Given the description of an element on the screen output the (x, y) to click on. 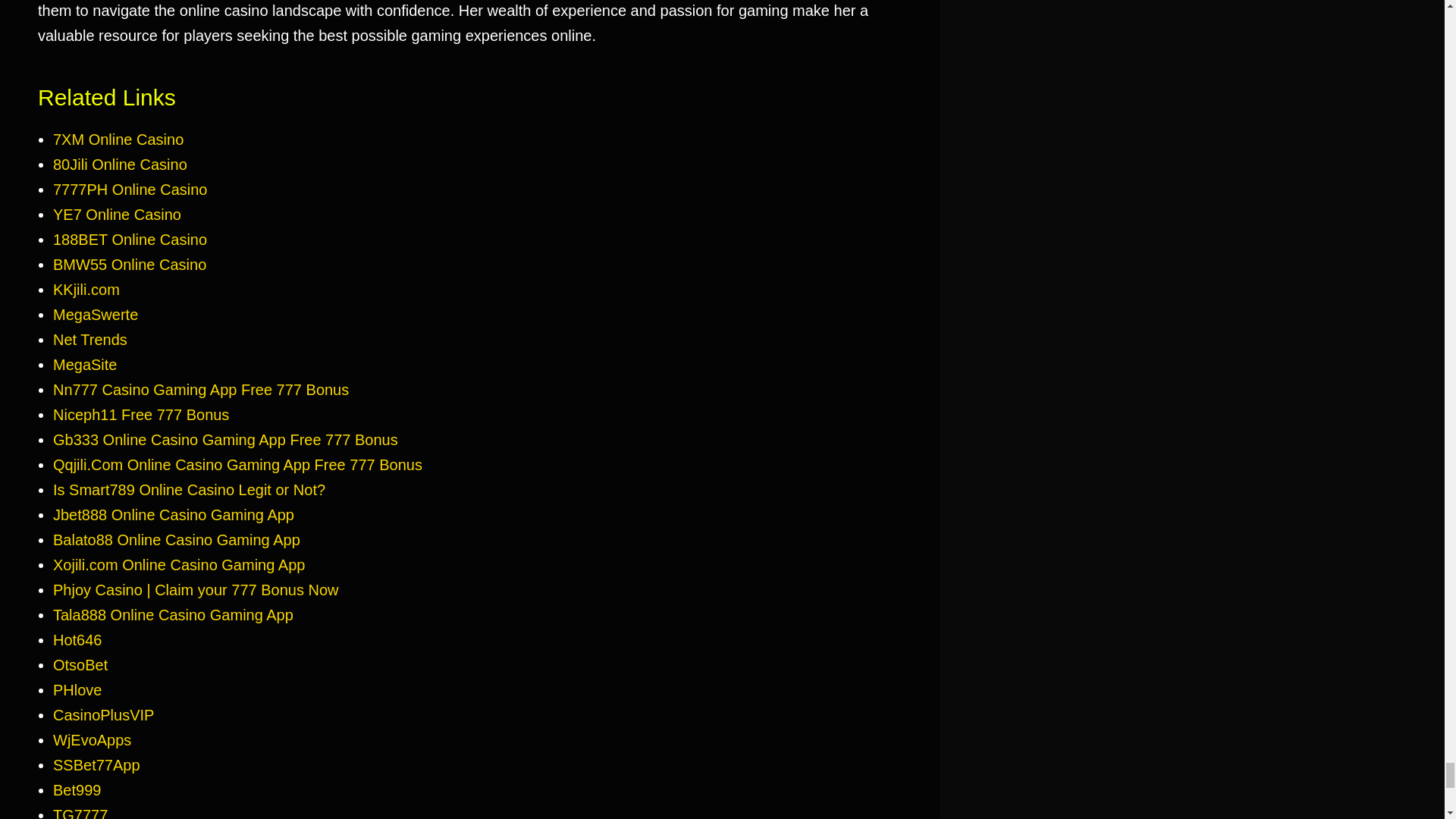
Tala888 Online Casino Gaming App (173, 614)
TG7777 (79, 812)
7777PH Online Casino (129, 188)
PHlove (76, 688)
Qqjili.Com Online Casino Gaming App Free 777 Bonus (237, 464)
Xojili.com Online Casino Gaming App (178, 564)
BMW55 Online Casino (129, 264)
Hot646 (76, 638)
Jbet888 Online Casino Gaming App (173, 514)
Niceph11 Free 777 Bonus (140, 414)
